Given the description of an element on the screen output the (x, y) to click on. 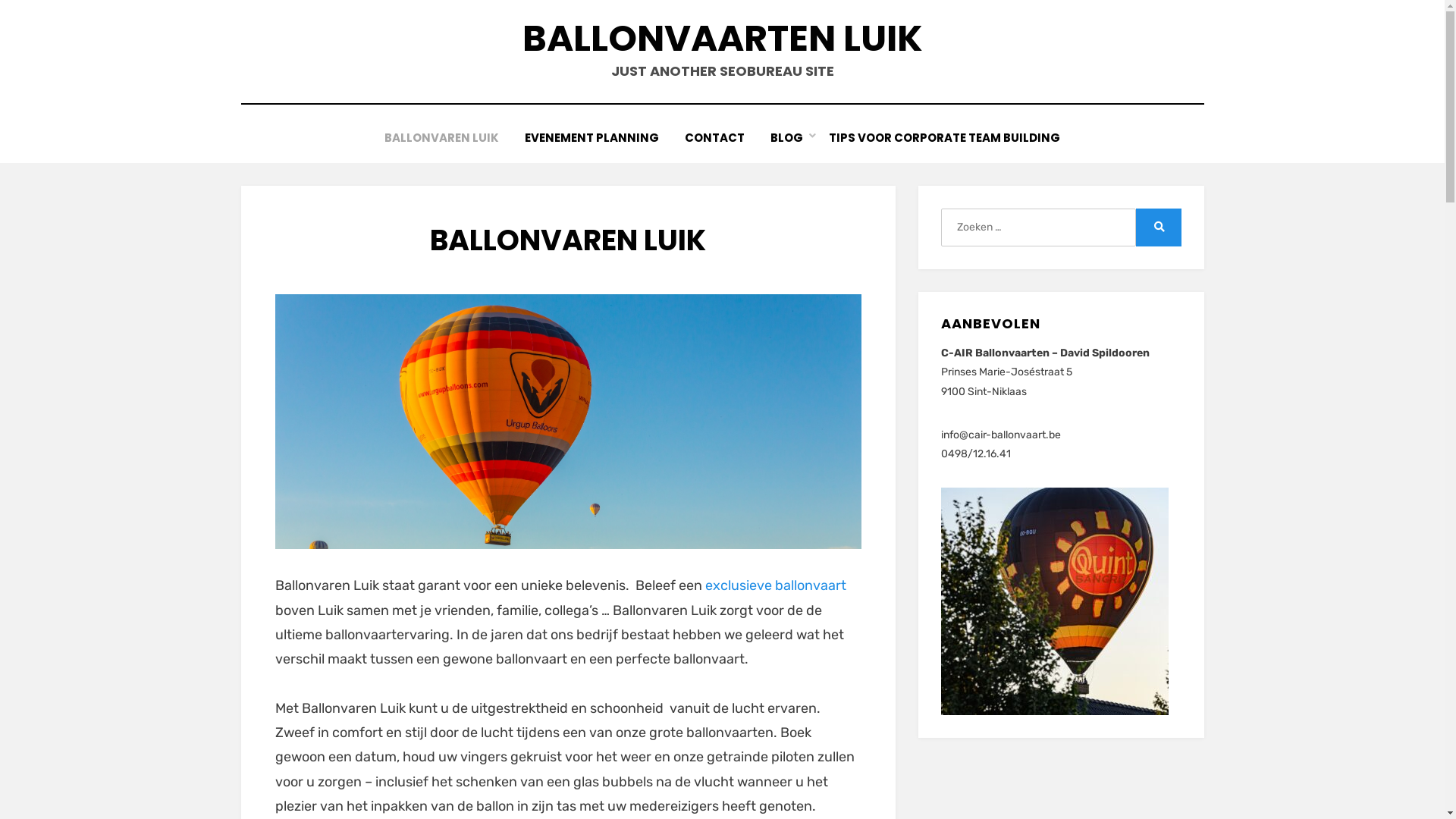
BALLONVAREN LUIK Element type: text (441, 137)
TIPS VOOR CORPORATE TEAM BUILDING Element type: text (944, 137)
exclusieve ballonvaart Element type: text (775, 585)
EVENEMENT PLANNING Element type: text (591, 137)
0498/12.16.41 Element type: text (975, 453)
BLOG Element type: text (786, 137)
info@cair-ballonvaart.be Element type: text (1000, 434)
Zoeken Element type: text (1158, 227)
Zoeken naar: Element type: hover (1038, 227)
BALLONVAARTEN LUIK Element type: text (721, 37)
CONTACT Element type: text (714, 137)
